Given the description of an element on the screen output the (x, y) to click on. 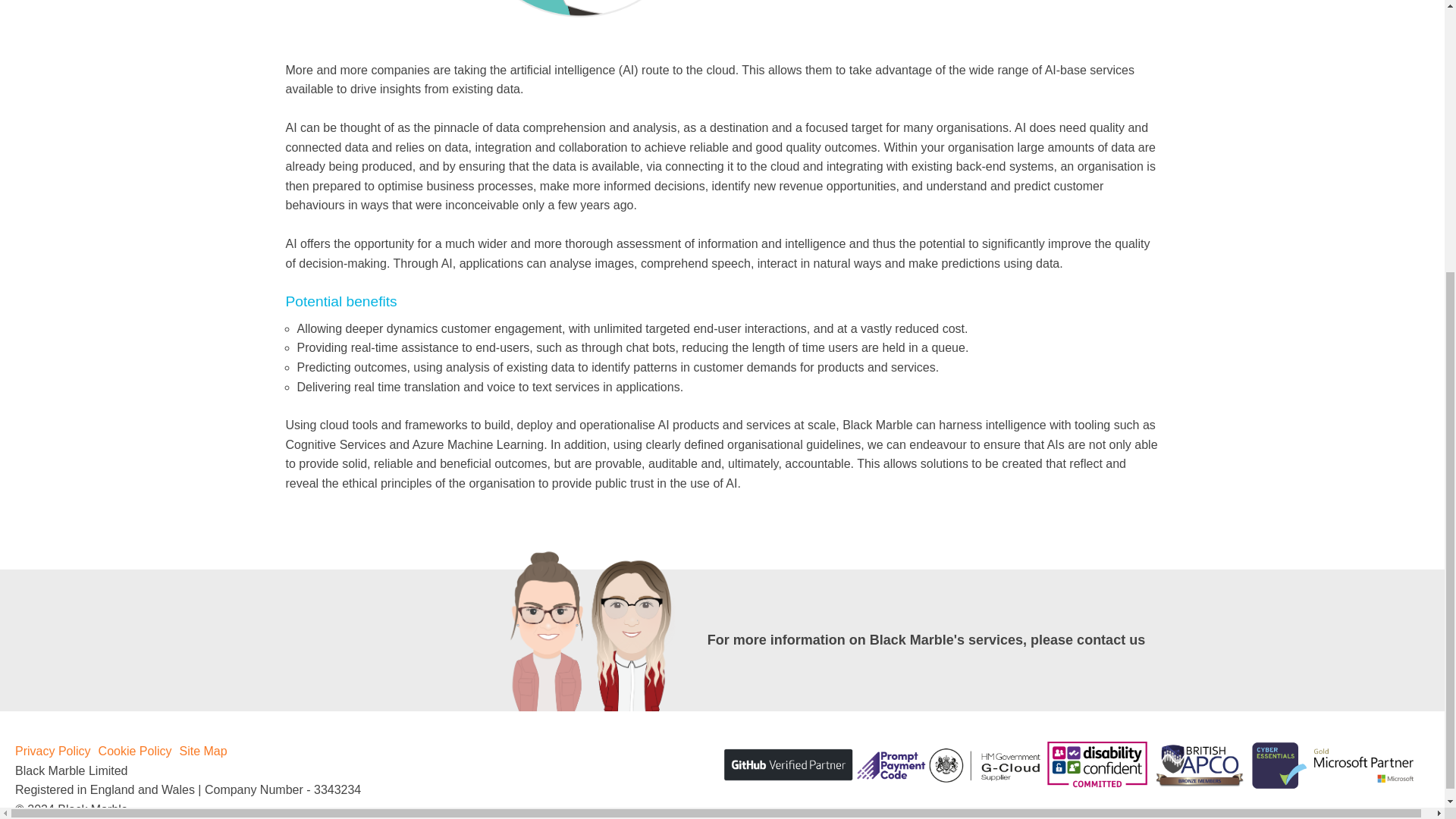
Site Map (203, 750)
Privacy Policy (52, 750)
Cookie Policy (135, 750)
